Given the description of an element on the screen output the (x, y) to click on. 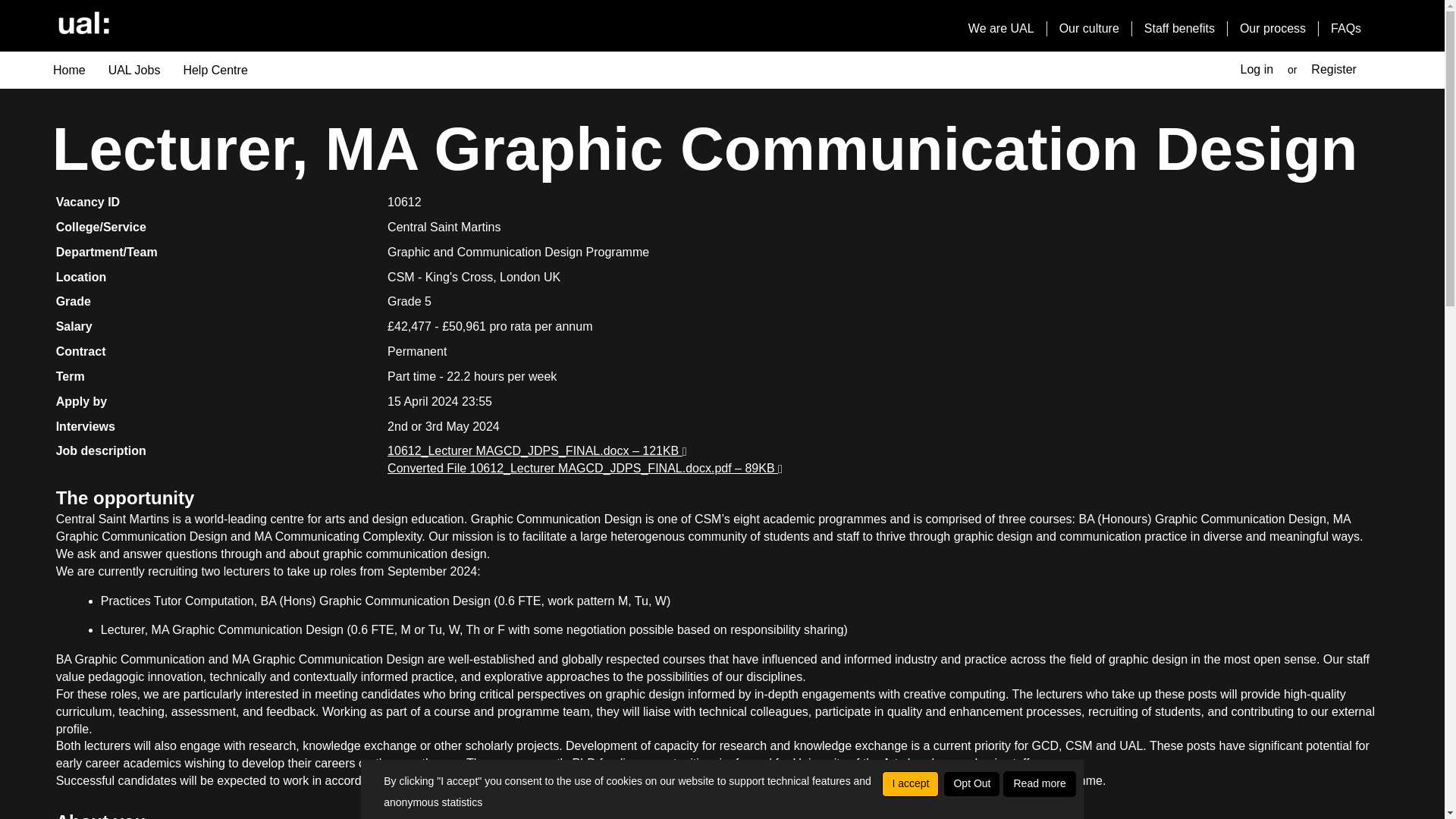
Help Centre (215, 69)
Read more (1039, 783)
Lecturer, MA Graphic Communication Design (223, 629)
Staff benefits (1179, 28)
Our culture (1089, 28)
Home (69, 69)
Our process (1273, 28)
Log in (1256, 69)
Register (1334, 69)
We are UAL (1001, 28)
FAQs (1346, 28)
Opt Out (970, 784)
UAL Jobs (134, 69)
I accept (910, 783)
